Given the description of an element on the screen output the (x, y) to click on. 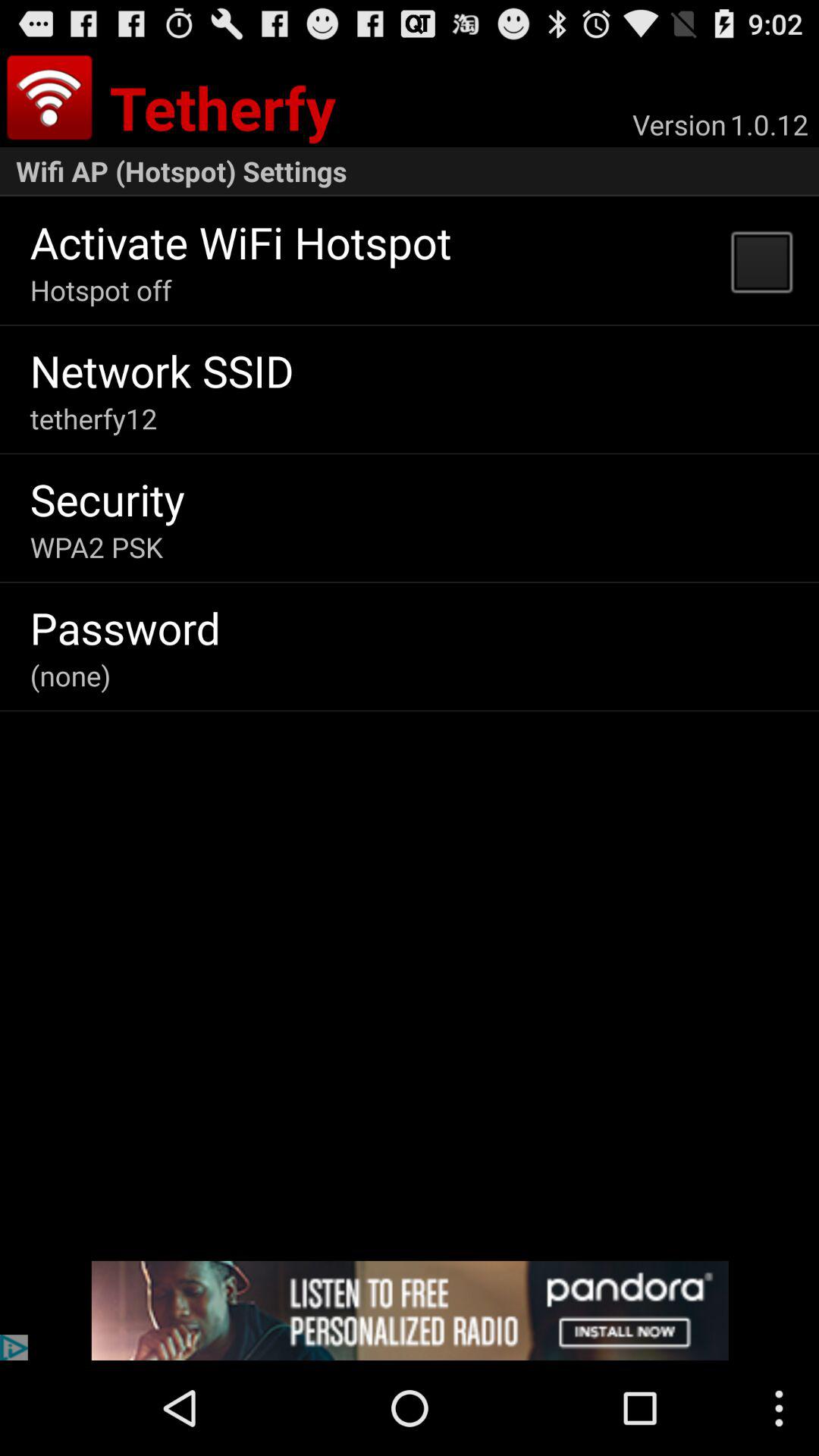
go to advertisement (409, 1310)
